Given the description of an element on the screen output the (x, y) to click on. 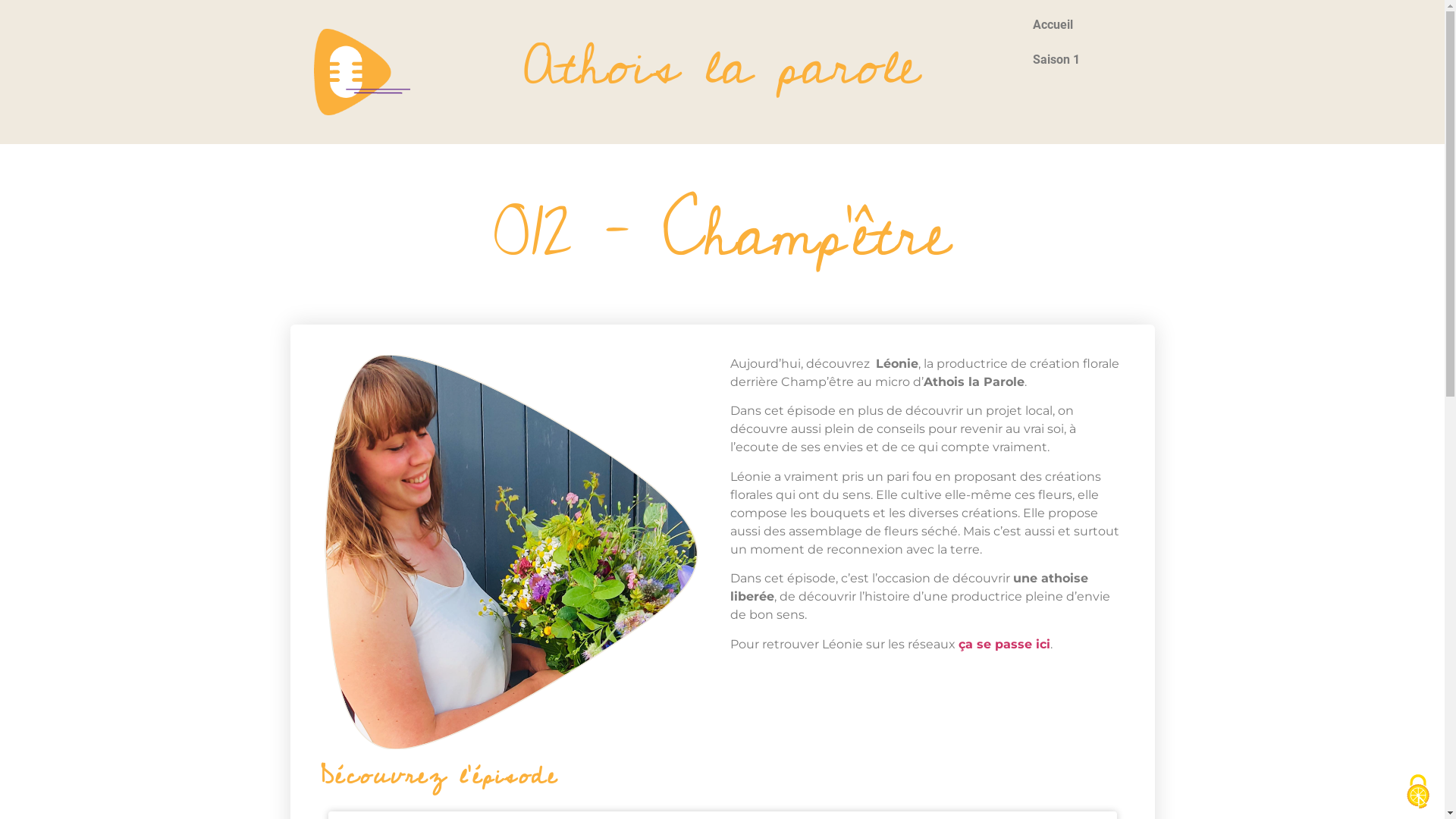
Saison 1 Element type: text (1081, 59)
Accueil Element type: text (1081, 24)
